Given the description of an element on the screen output the (x, y) to click on. 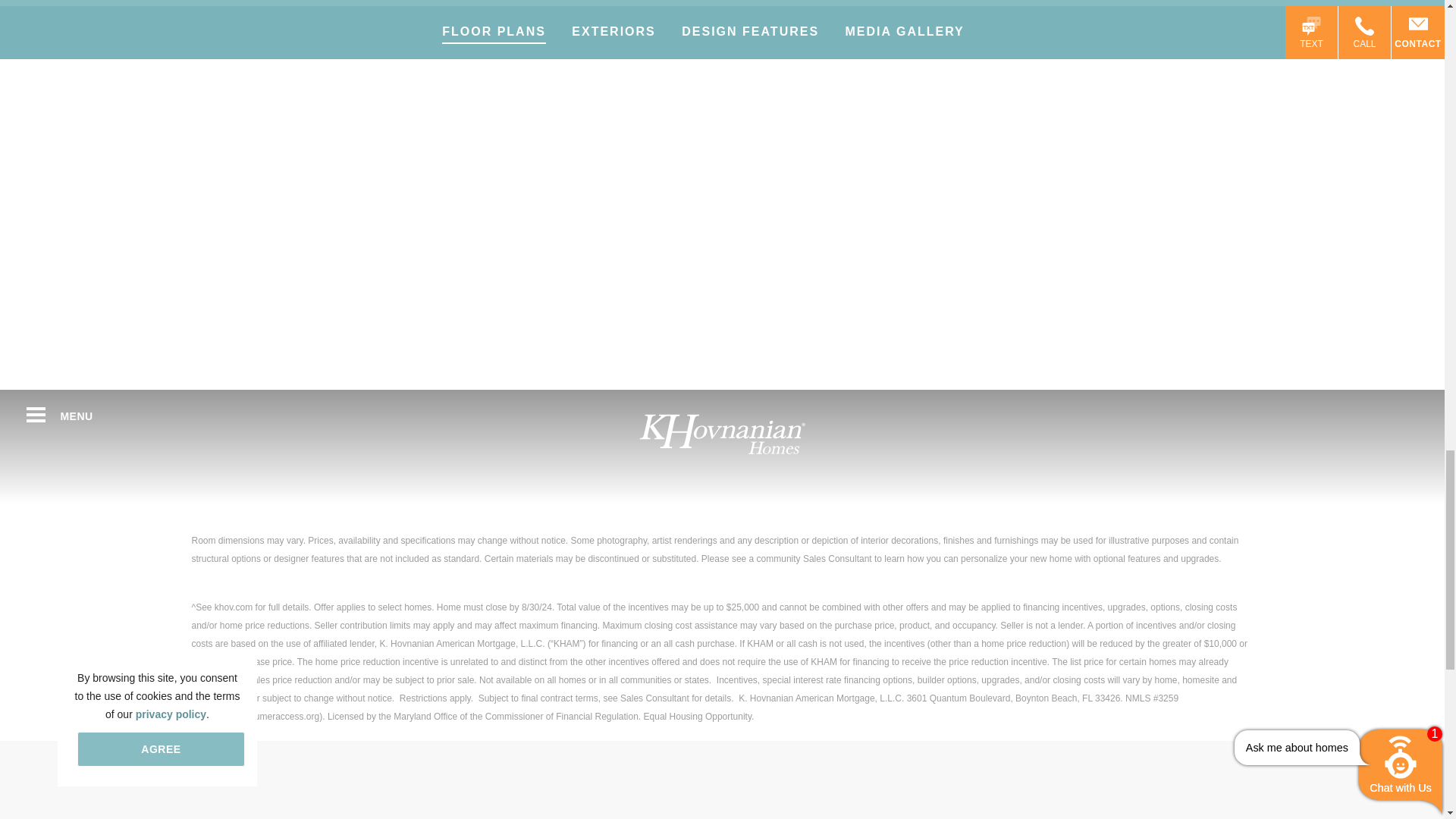
TEXT (1311, 31)
CALL (1364, 31)
